Given the description of an element on the screen output the (x, y) to click on. 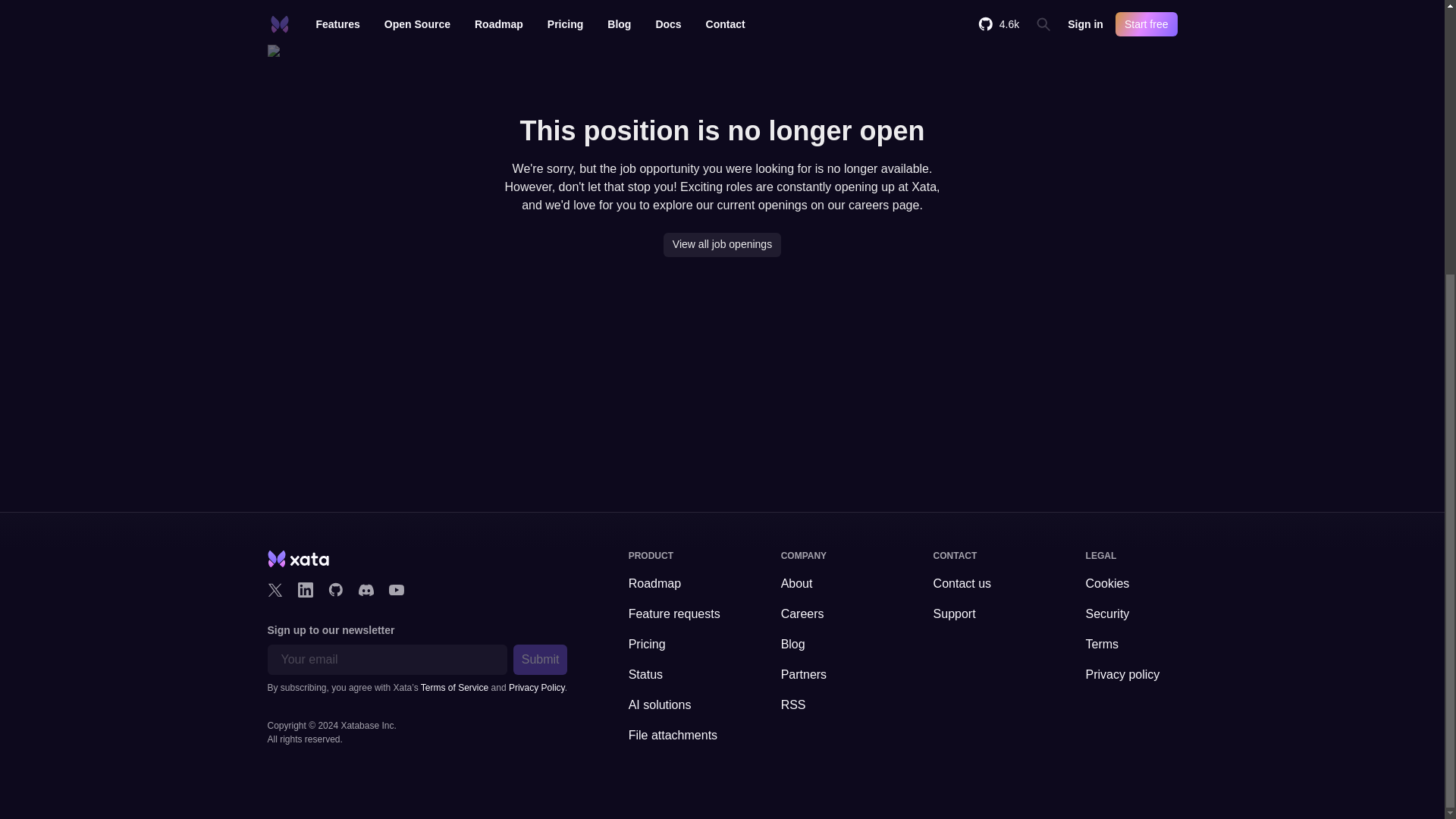
Submit (540, 659)
Roadmap (674, 583)
Terms of Service (453, 687)
careers (868, 205)
Privacy Policy (536, 687)
View all job openings (721, 244)
